Given the description of an element on the screen output the (x, y) to click on. 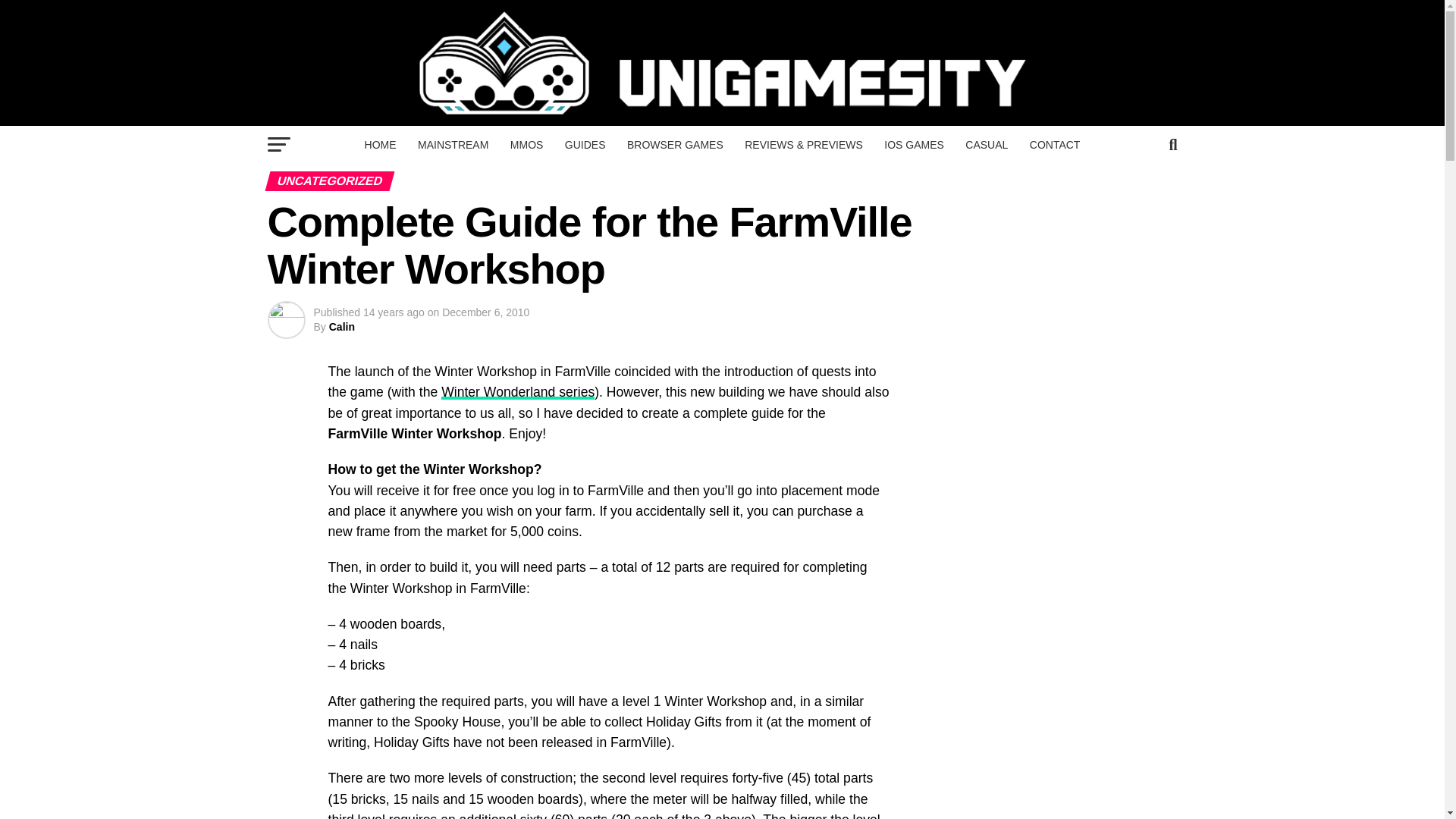
Posts by Calin (342, 326)
BROWSER GAMES (674, 144)
MAINSTREAM (453, 144)
GUIDES (585, 144)
MMOS (526, 144)
HOME (380, 144)
